Given the description of an element on the screen output the (x, y) to click on. 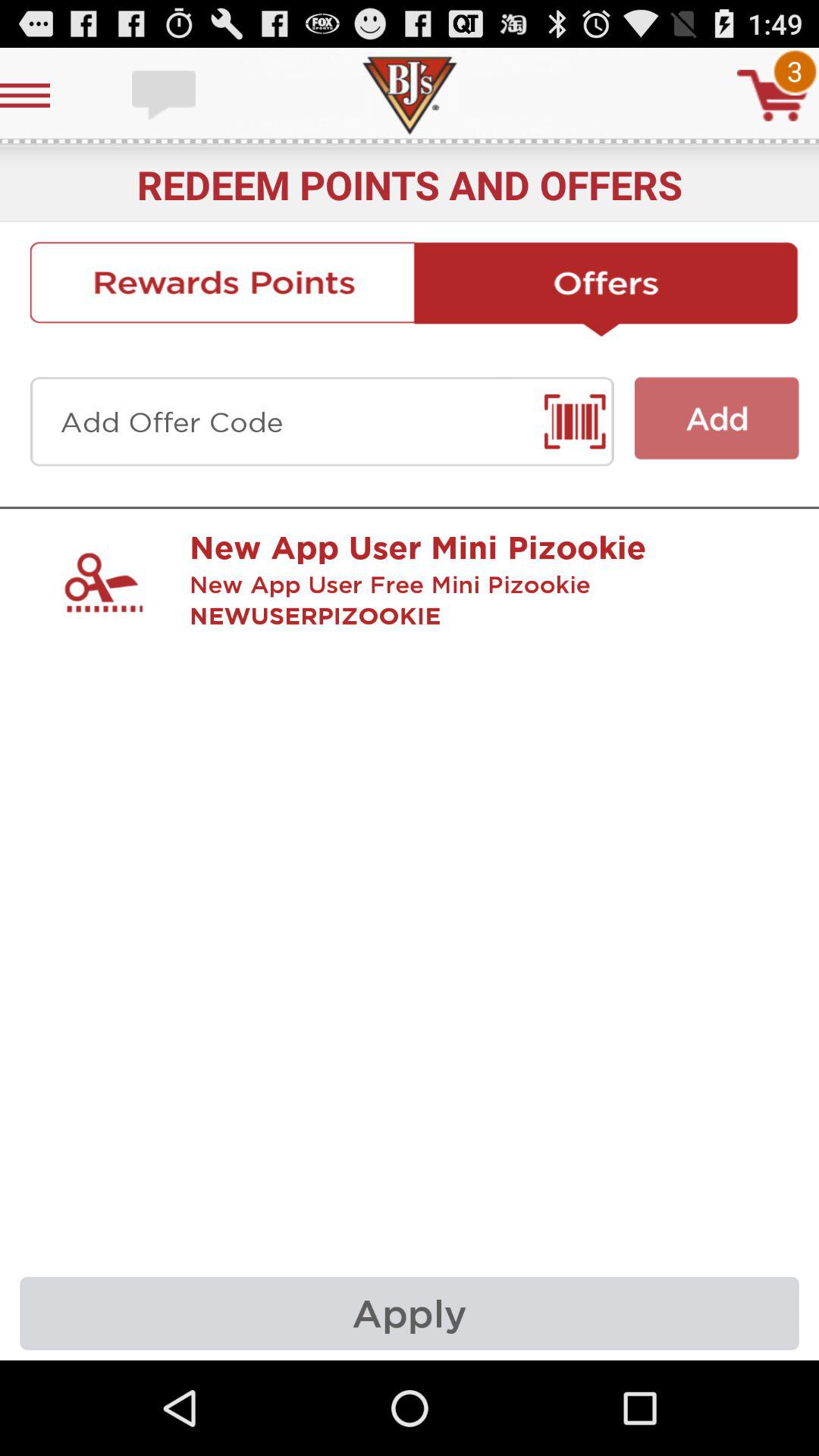
chats (165, 95)
